Given the description of an element on the screen output the (x, y) to click on. 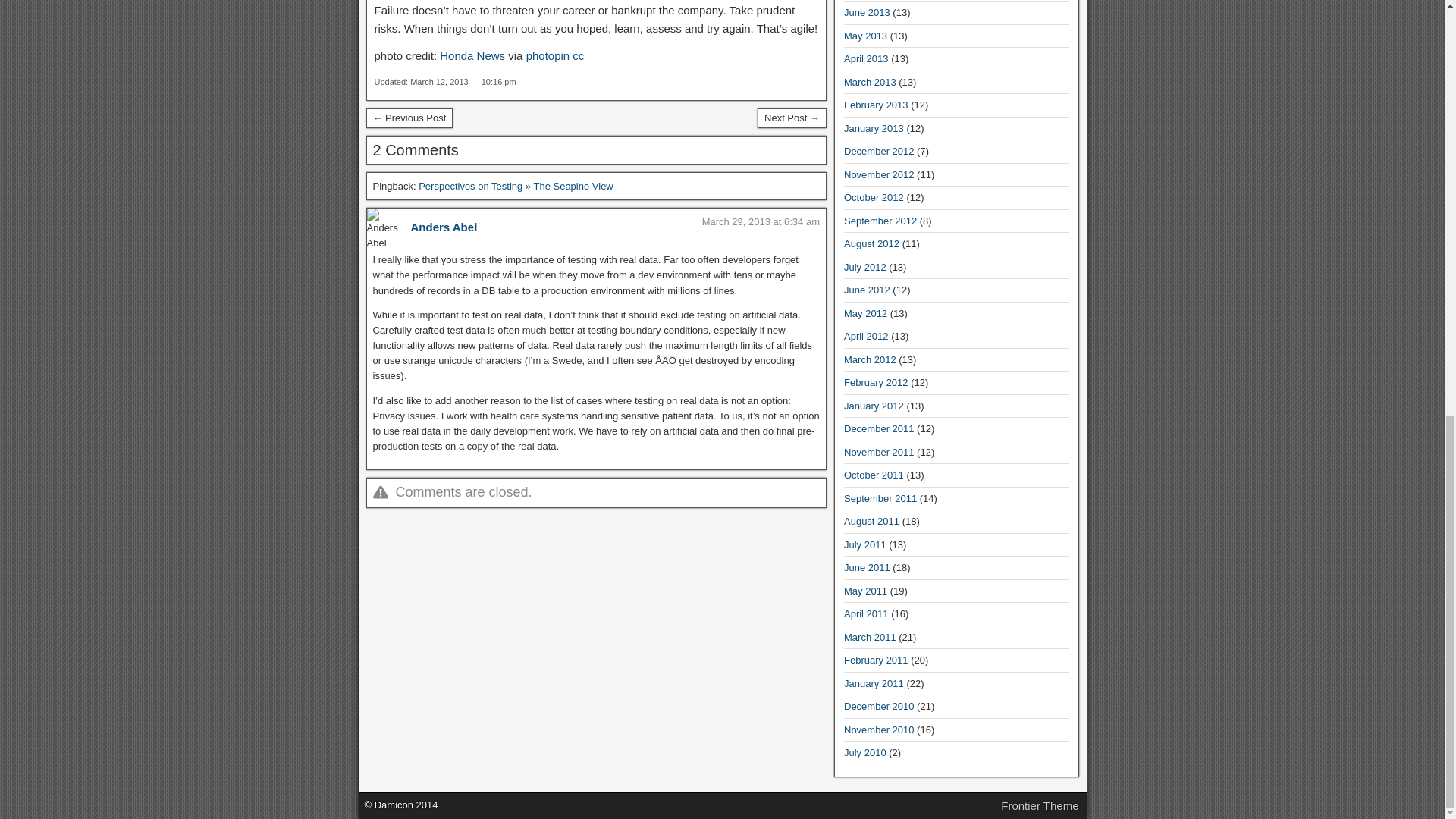
photopin (547, 55)
The Simplest Way To Get More Done Is To Do Less (408, 117)
May 2013 (865, 35)
cc (577, 55)
April 2013 (866, 58)
June 2013 (866, 12)
Anders Abel (443, 226)
March 2013 (870, 81)
March 29, 2013 at 6:34 am (760, 221)
Honda News (472, 55)
